Given the description of an element on the screen output the (x, y) to click on. 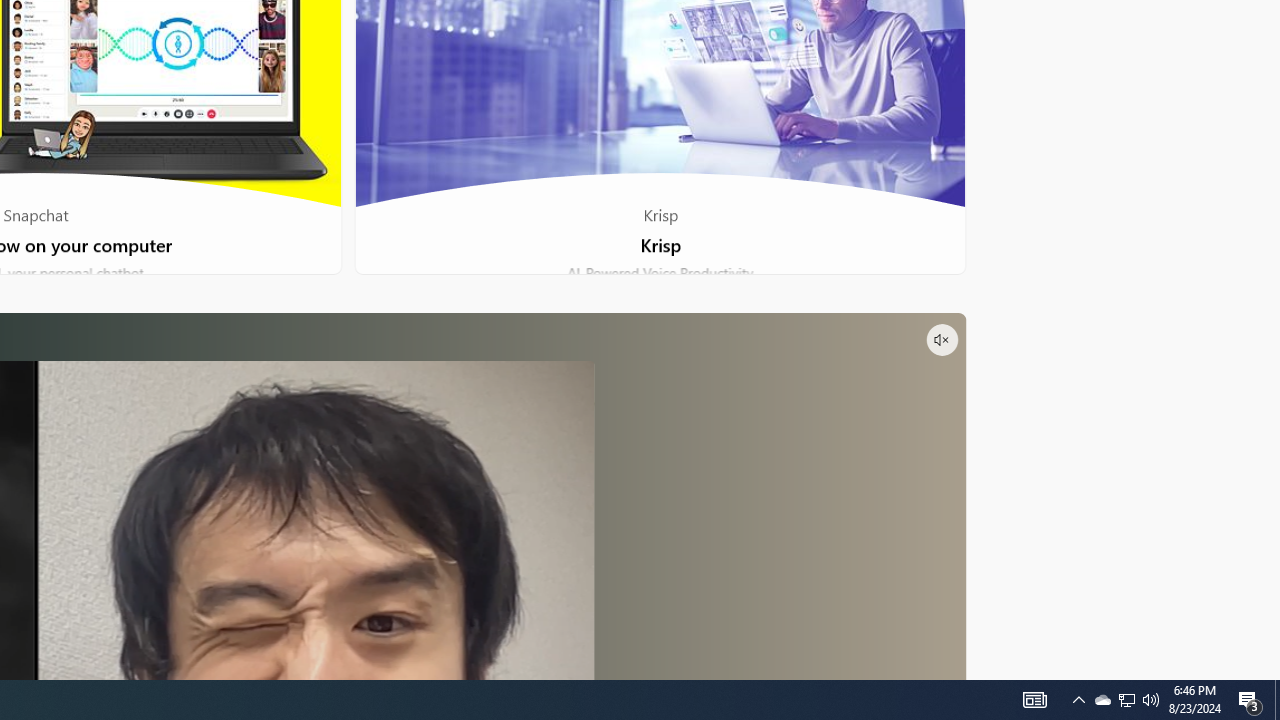
Unmute (941, 339)
